Given the description of an element on the screen output the (x, y) to click on. 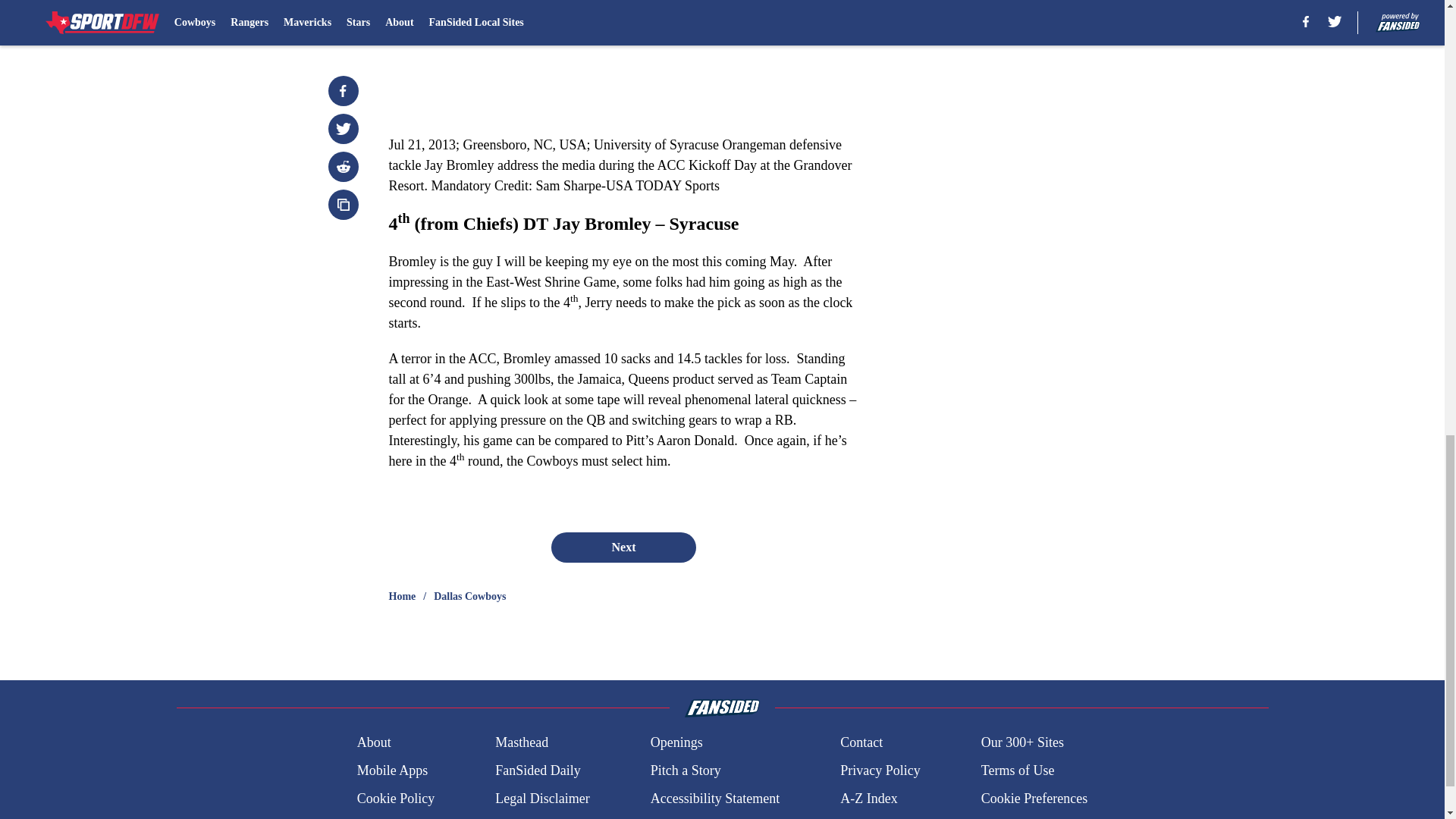
Terms of Use (1017, 770)
Legal Disclaimer (542, 798)
Pitch a Story (685, 770)
Masthead (521, 742)
Cookie Policy (395, 798)
Home (401, 596)
Contact (861, 742)
Openings (676, 742)
Mobile Apps (392, 770)
About (373, 742)
FanSided Daily (537, 770)
Cookie Preferences (1034, 798)
Accessibility Statement (714, 798)
Dallas Cowboys (469, 596)
Privacy Policy (880, 770)
